Given the description of an element on the screen output the (x, y) to click on. 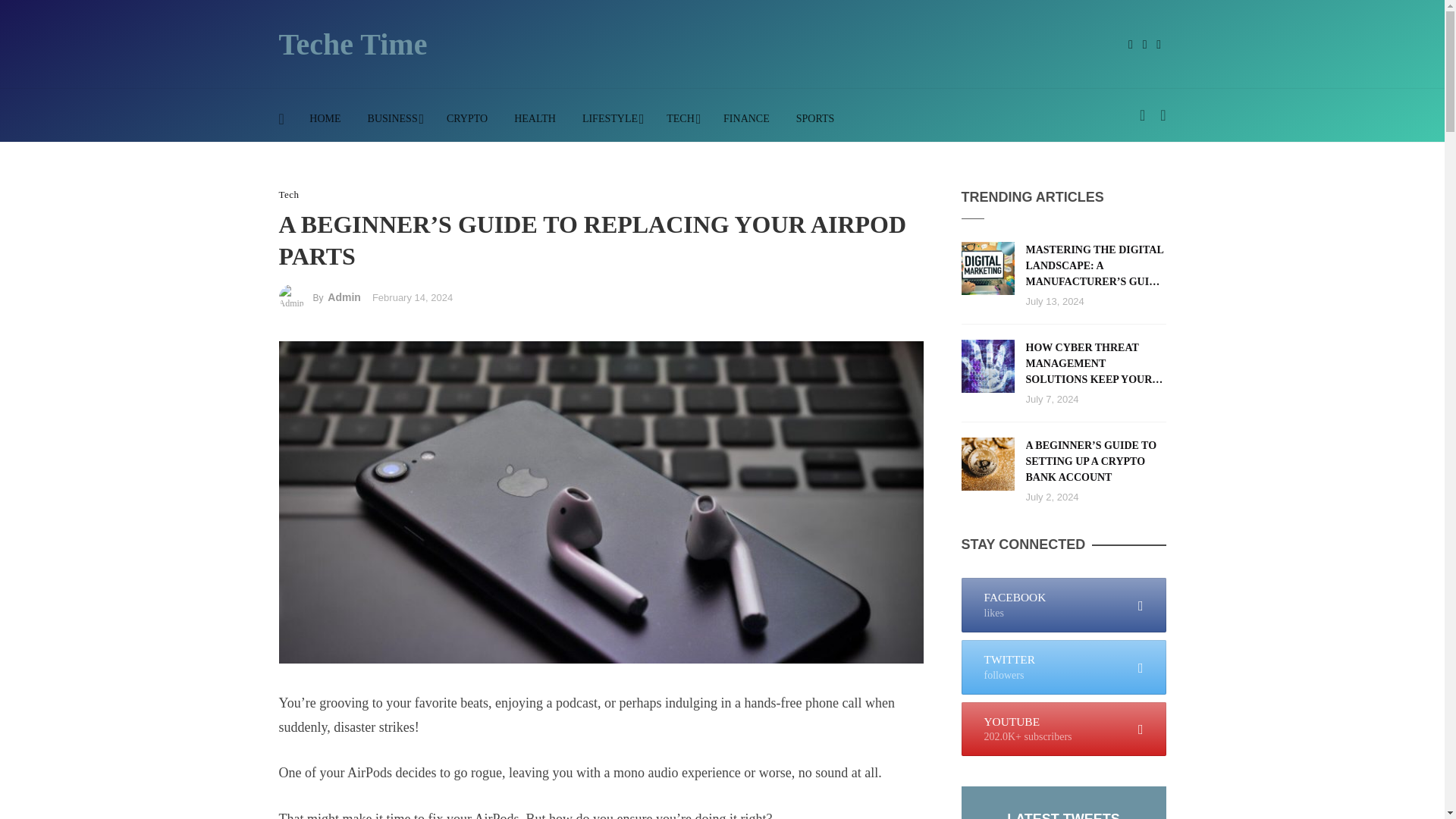
FINANCE (746, 118)
Admin (344, 297)
February 14, 2024 at 8:16 pm (412, 297)
Teche Time (353, 50)
HEALTH (534, 118)
TECH (681, 118)
LIFESTYLE (610, 118)
BUSINESS (392, 118)
SPORTS (815, 118)
HOME (325, 118)
Tech (289, 194)
July 13, 2024 at 1:08 pm (1054, 301)
CRYPTO (466, 118)
